Given the description of an element on the screen output the (x, y) to click on. 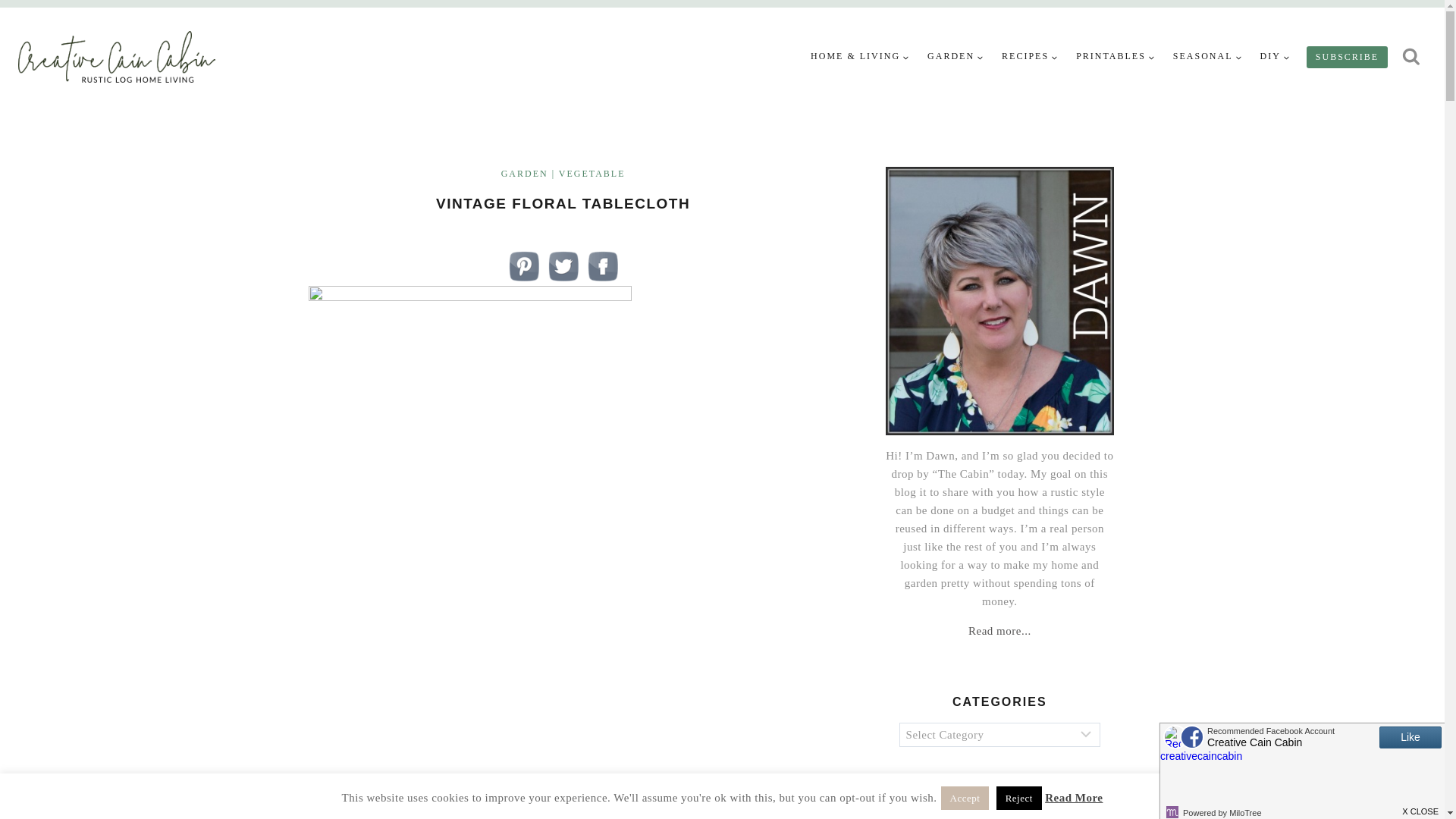
GARDEN (955, 56)
facebook (603, 265)
twitter (563, 265)
pinterest (523, 265)
